Given the description of an element on the screen output the (x, y) to click on. 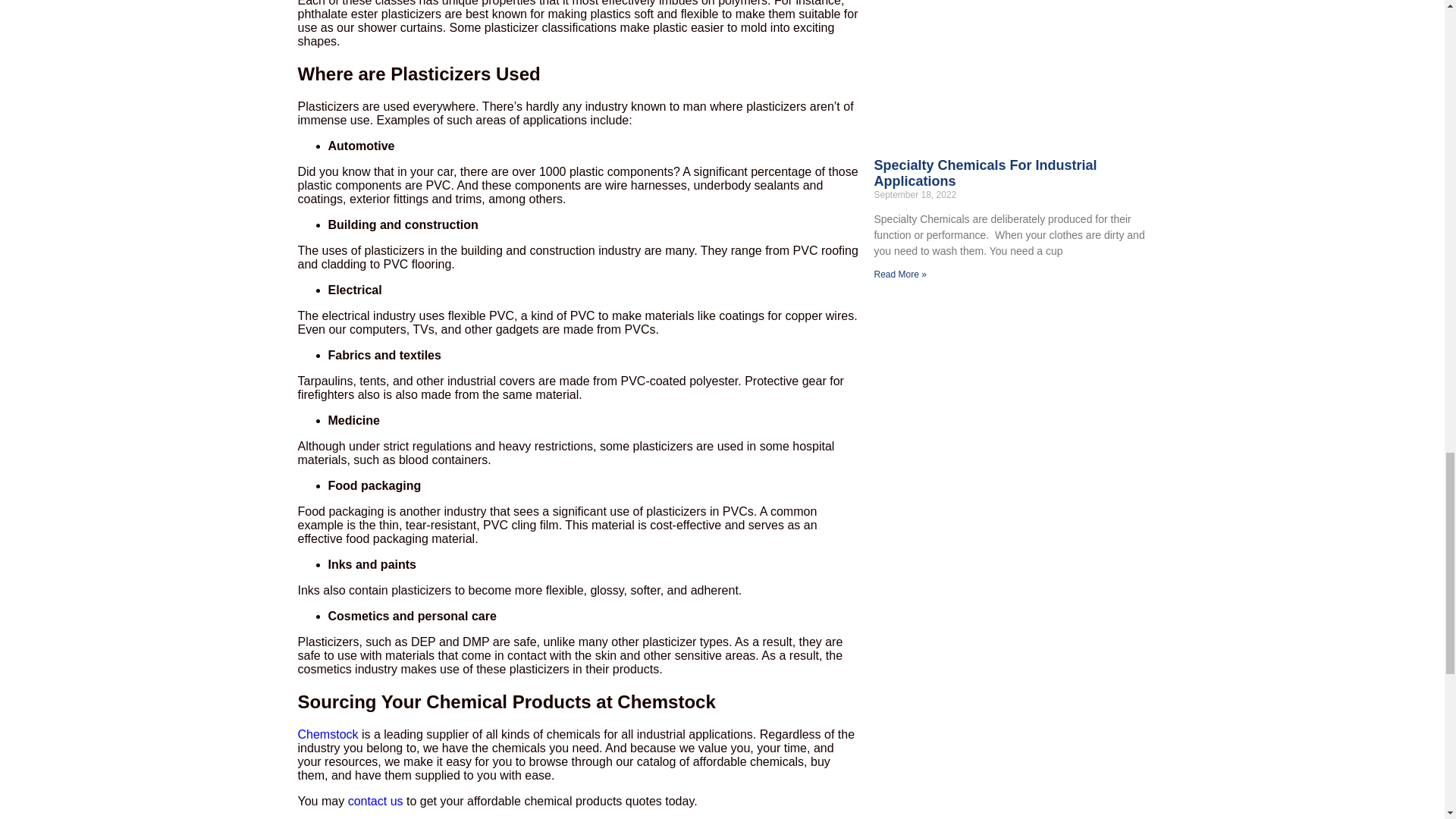
contact us (375, 800)
Chemstock (329, 734)
Specialty Chemicals For Industrial Applications (984, 173)
